Given the description of an element on the screen output the (x, y) to click on. 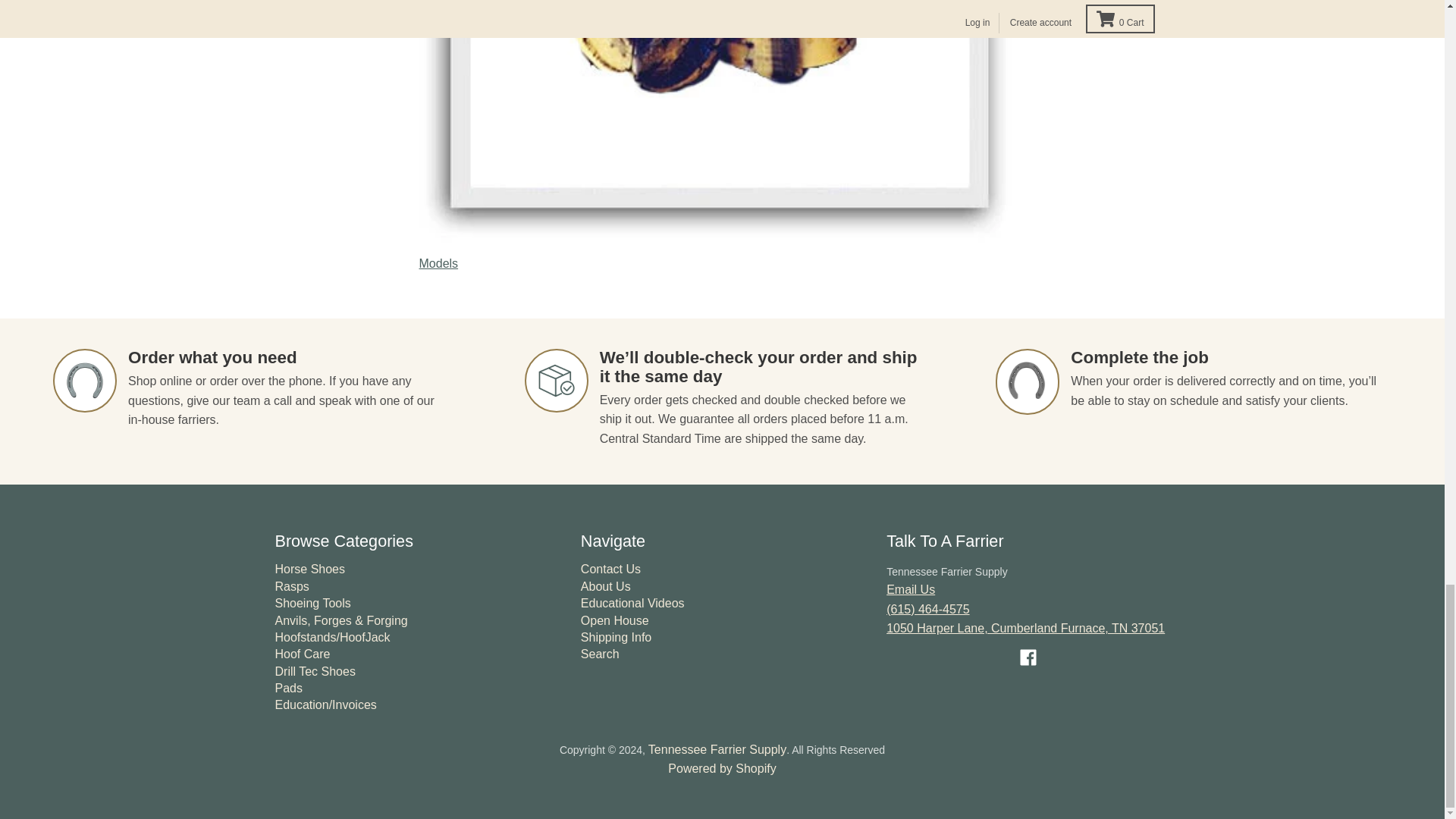
Get Directions (1025, 637)
Facebook - Tennessee Farrier Supply (1027, 657)
